Given the description of an element on the screen output the (x, y) to click on. 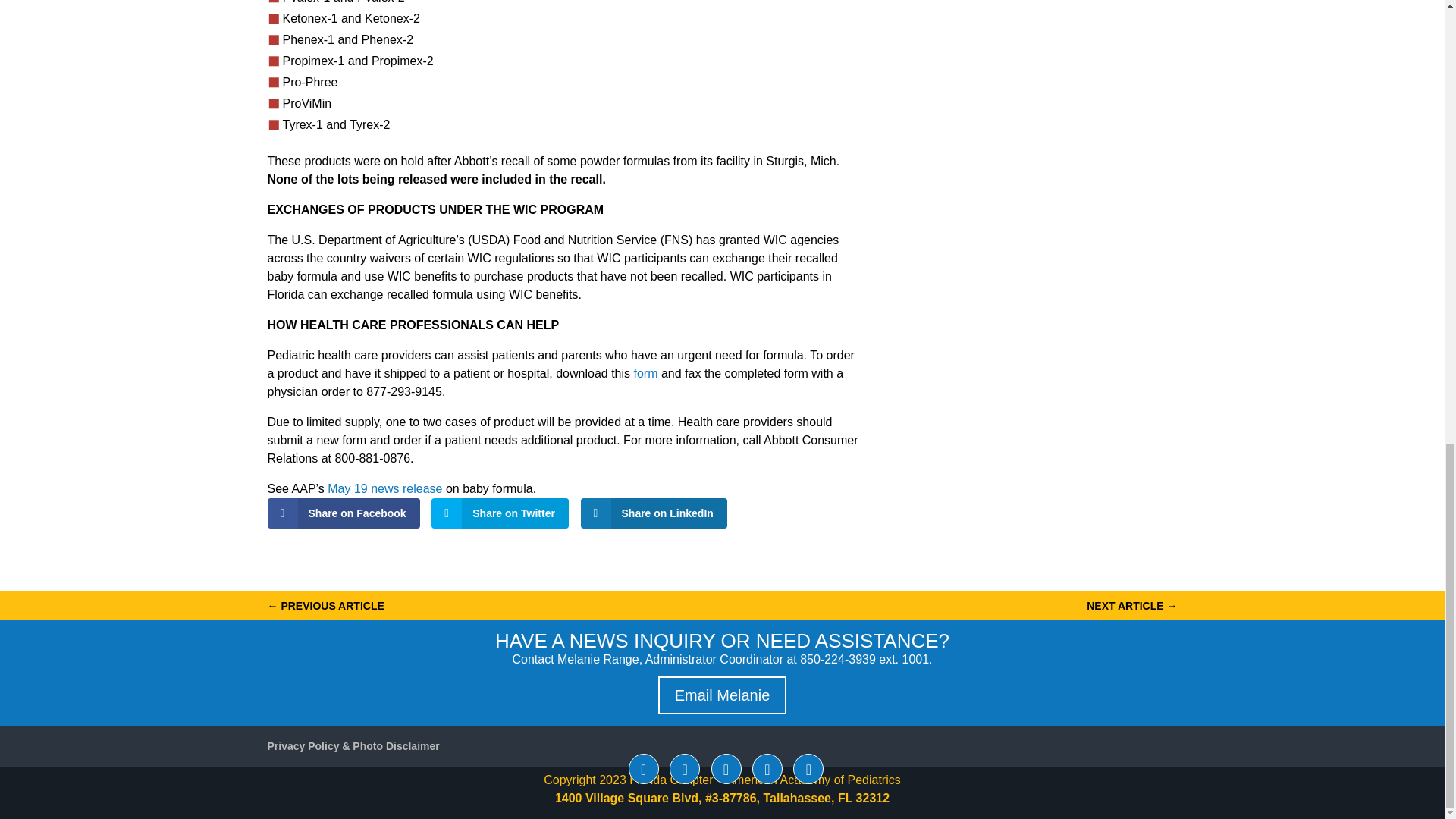
LinkedIn (726, 768)
Twitter (684, 768)
Facebook (643, 768)
Instagram (808, 768)
YouTube (767, 768)
